Given the description of an element on the screen output the (x, y) to click on. 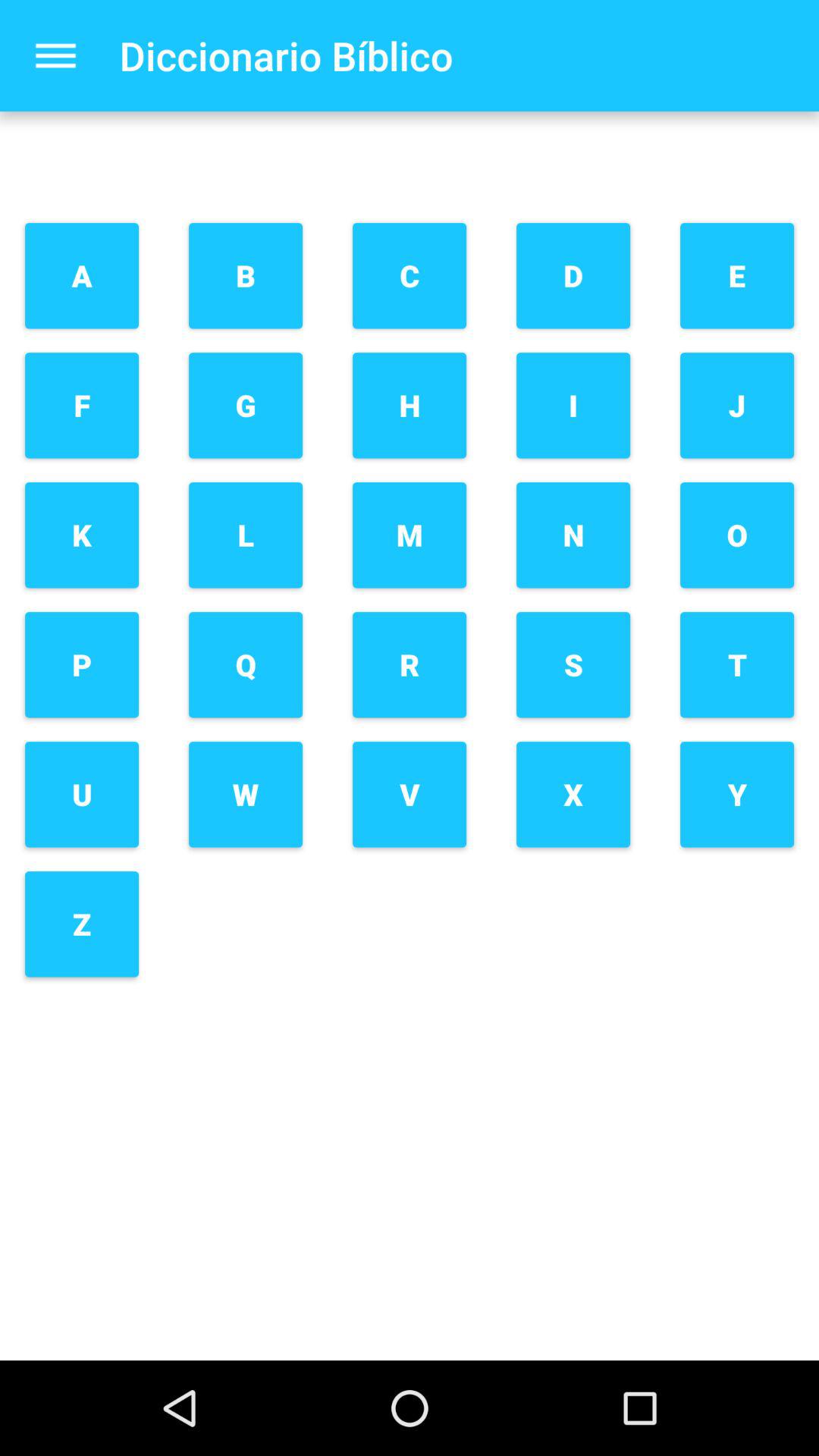
press h icon (409, 405)
